Given the description of an element on the screen output the (x, y) to click on. 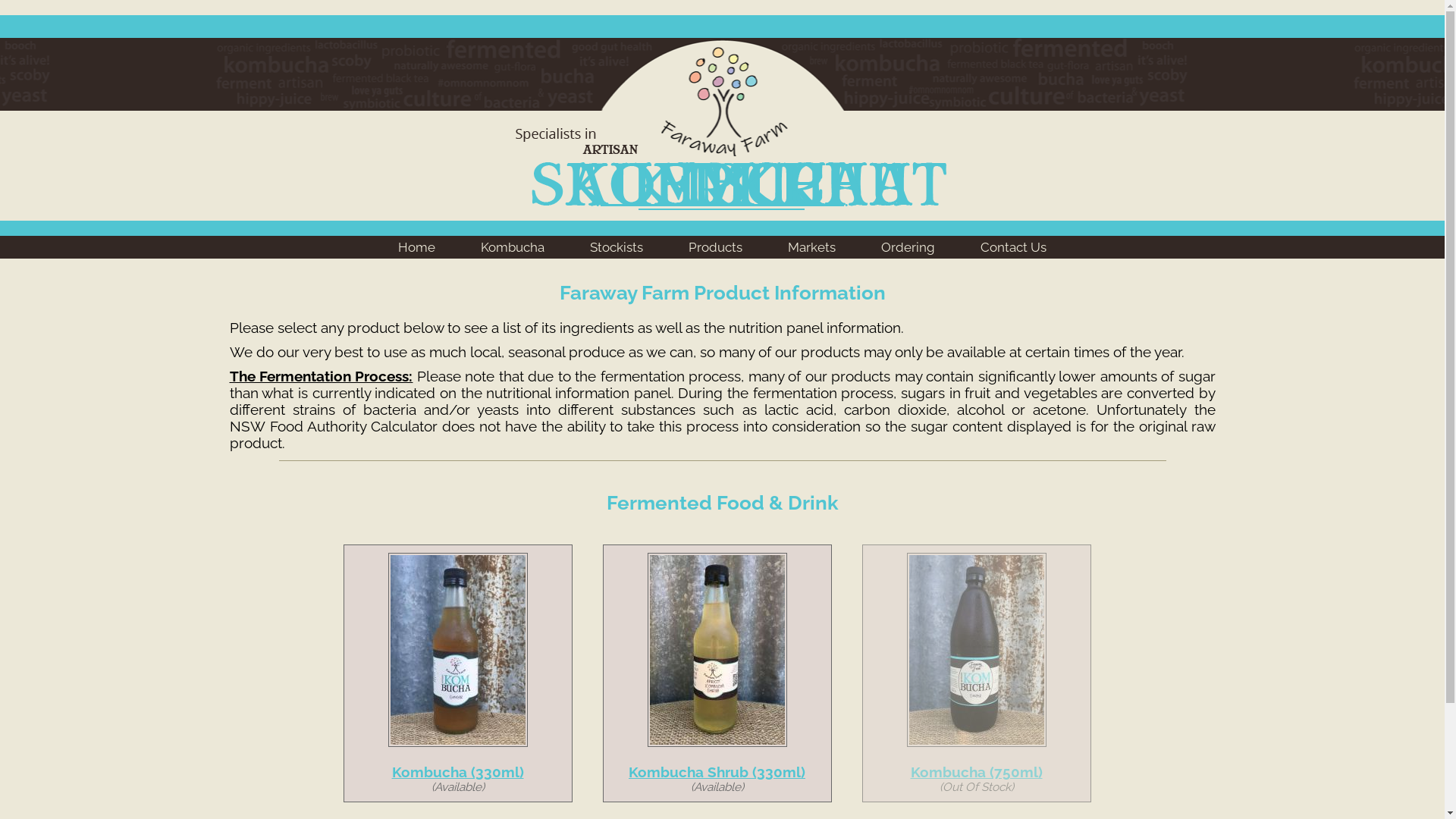
Home Element type: text (416, 246)
Ordering Element type: text (907, 11)
Kombucha (750ml) Element type: text (975, 771)
Products Faraway Farm Foods Element type: hover (722, 86)
Kombucha Element type: text (512, 11)
Contact Us Element type: text (1013, 246)
Kombucha Element type: text (512, 246)
Kombucha Shrub (330ml) Element type: text (716, 771)
Markets Element type: text (811, 246)
Products Element type: text (715, 11)
Kombucha Shrub (330ml) Element type: hover (717, 649)
Stockists Element type: text (616, 11)
Markets Element type: text (811, 11)
Home Element type: text (416, 11)
Products Faraway Farm Foods Element type: hover (722, 214)
Kombucha (330ml) Element type: hover (457, 649)
Stockists Element type: text (616, 246)
Products Element type: text (715, 246)
Contact Us Element type: text (1013, 11)
Ordering Element type: text (907, 246)
Kombucha (750ml) Element type: hover (976, 649)
Kombucha (330ml) Element type: text (457, 771)
